Given the description of an element on the screen output the (x, y) to click on. 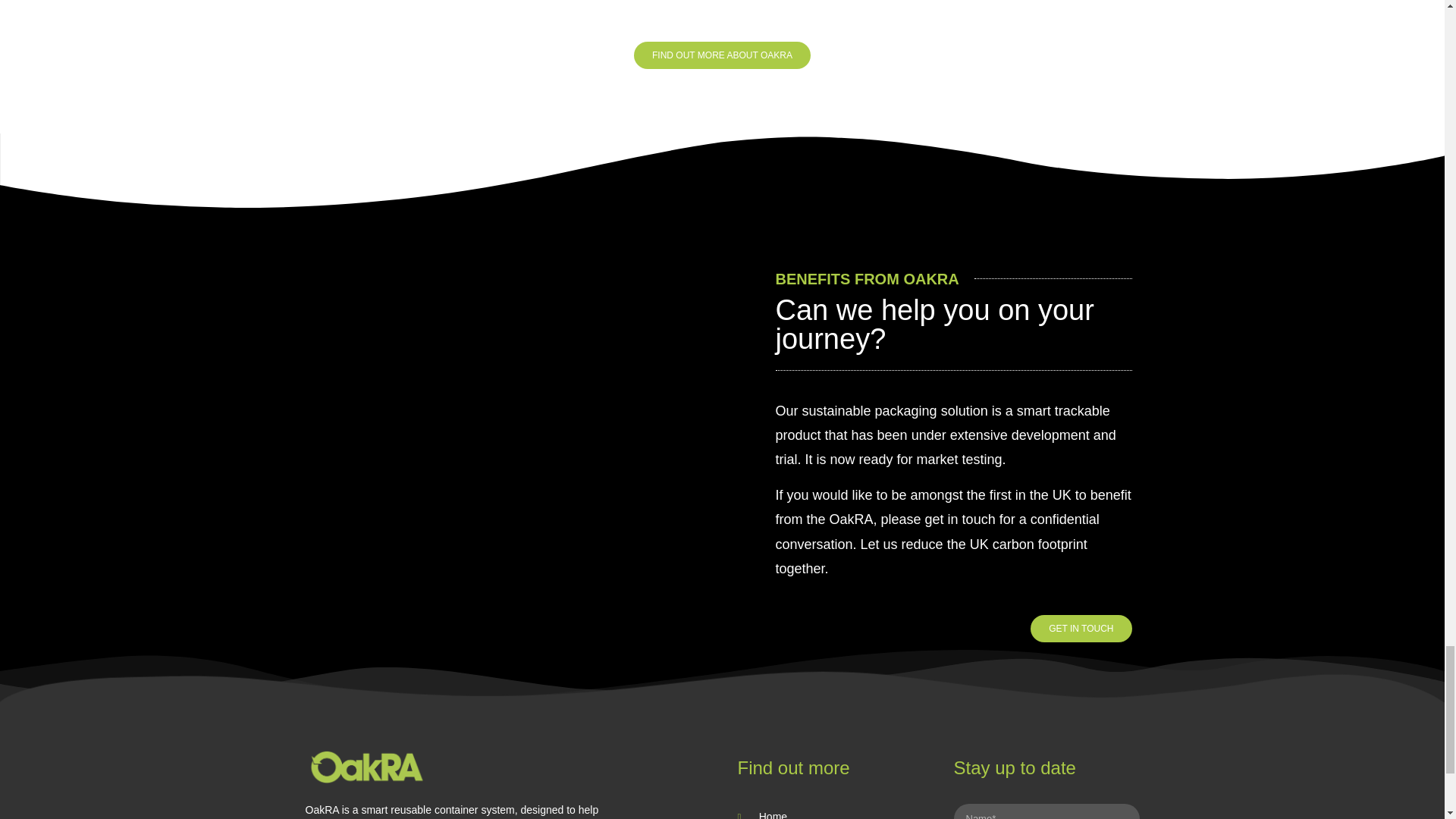
FIND OUT MORE ABOUT OAKRA (721, 54)
GET IN TOUCH (1080, 628)
Home (829, 813)
